Given the description of an element on the screen output the (x, y) to click on. 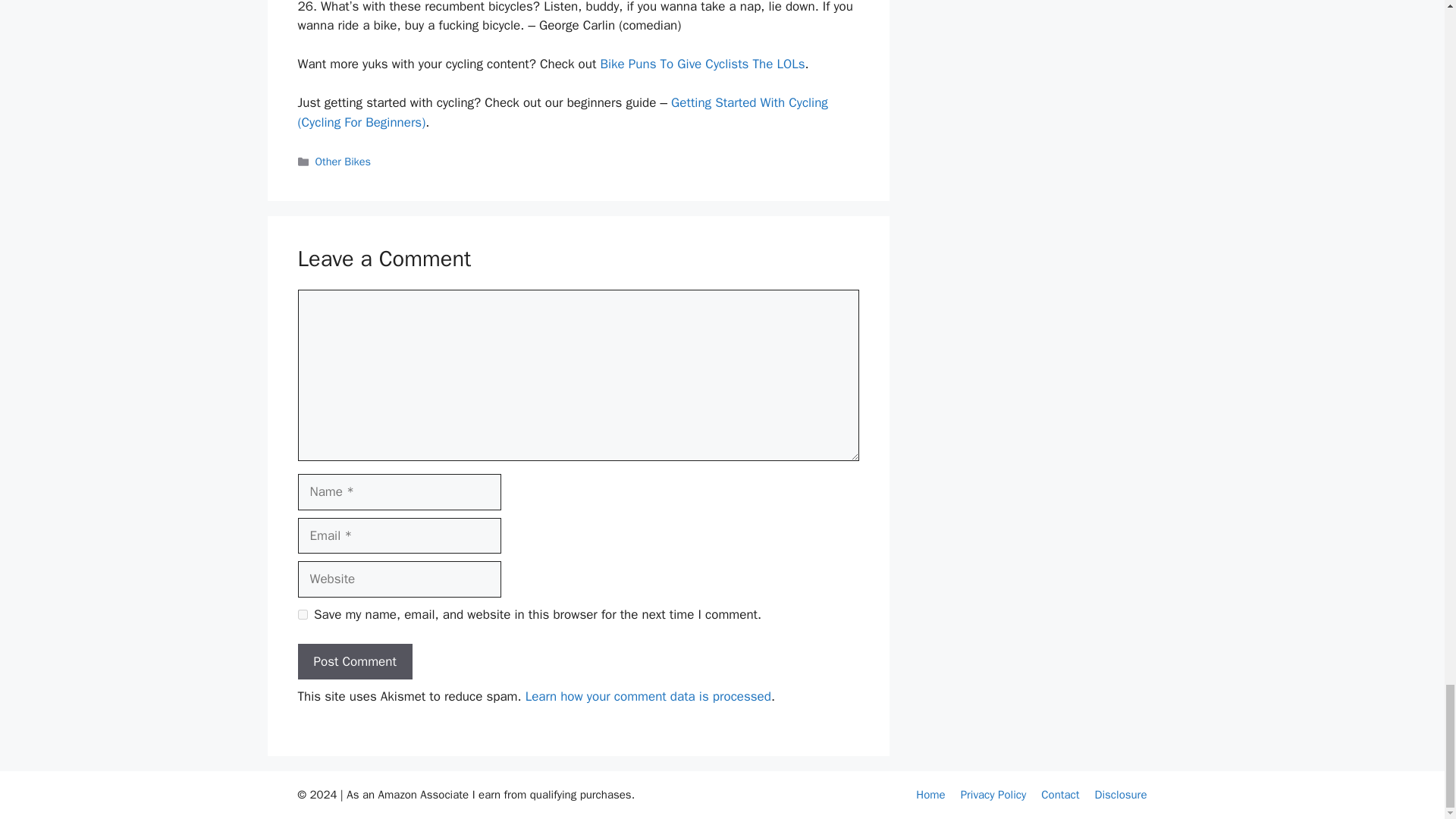
Home (929, 794)
Other Bikes (343, 161)
Learn how your comment data is processed (648, 696)
Privacy Policy (993, 794)
Contact (1059, 794)
Post Comment (354, 661)
Bike Puns To Give Cyclists The LOLs (702, 64)
yes (302, 614)
Post Comment (354, 661)
